Given the description of an element on the screen output the (x, y) to click on. 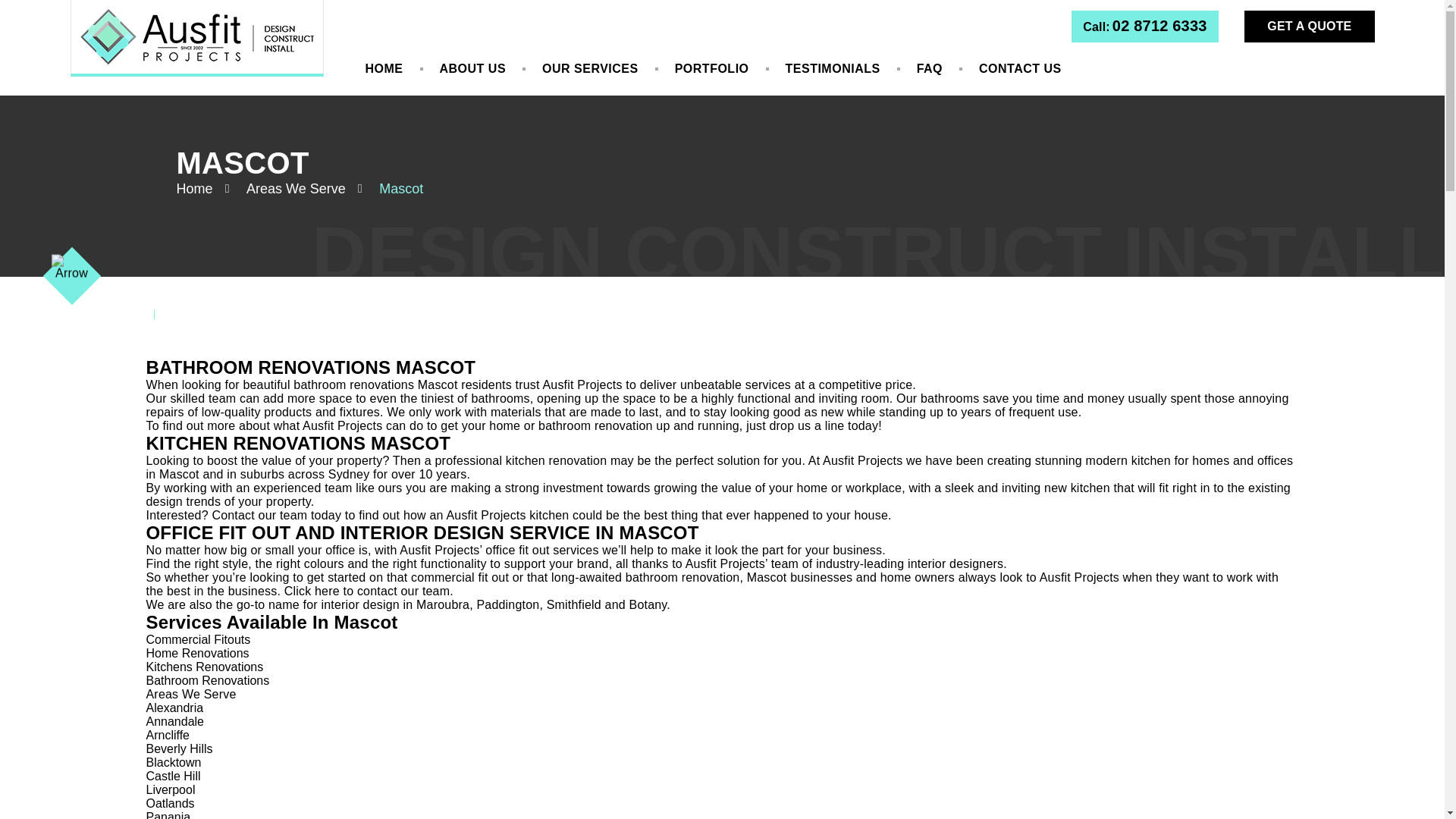
CONTACT US (1020, 68)
PORTFOLIO (711, 68)
Call:02 8712 6333 (1144, 26)
FAQ (929, 68)
kitchen renovation (556, 460)
Click here (311, 590)
commercial fit out (459, 576)
Arncliffe (167, 735)
Blacktown (172, 762)
bathroom renovations (353, 384)
